Given the description of an element on the screen output the (x, y) to click on. 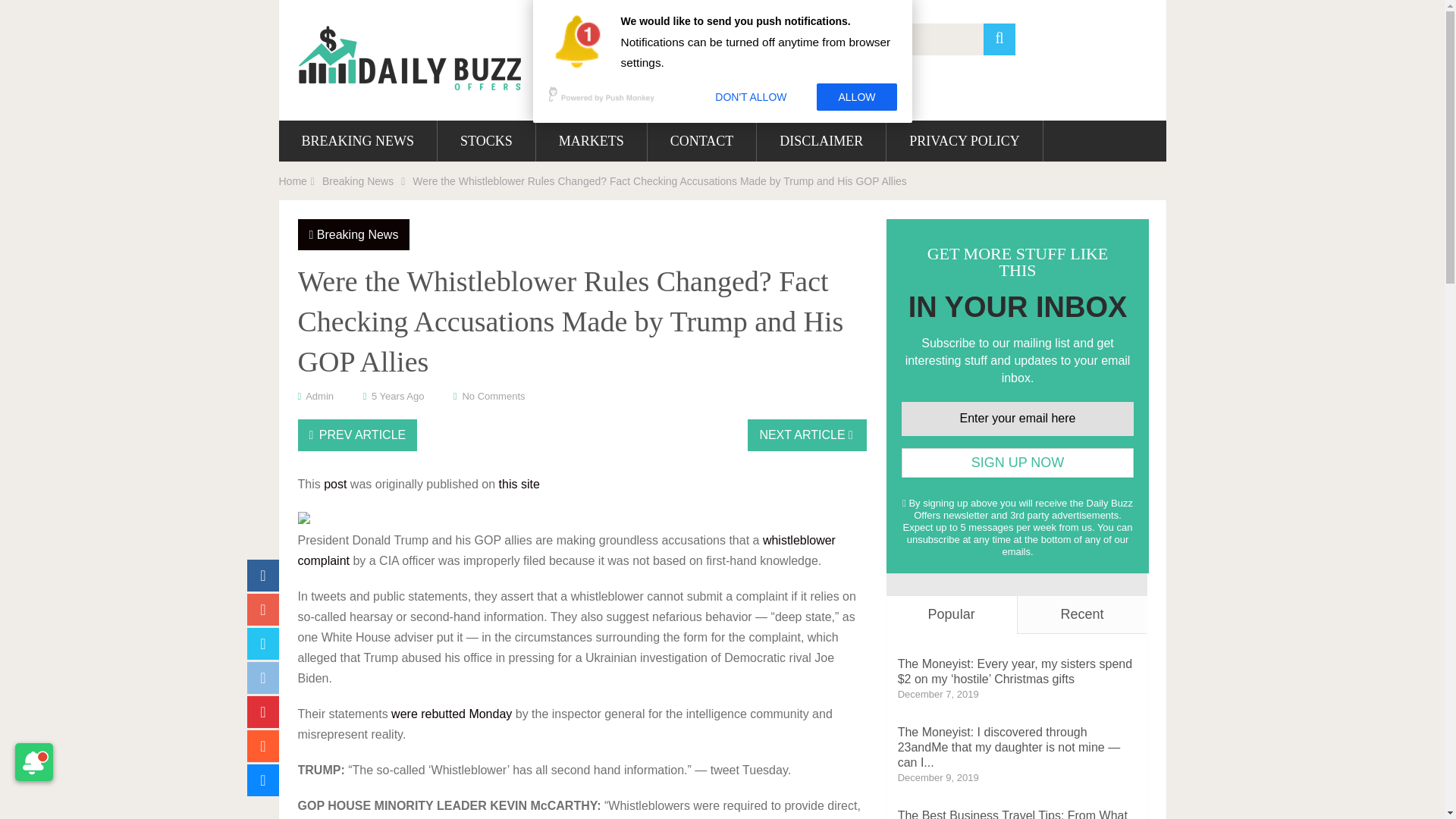
Breaking News (357, 234)
DISCLAIMER (821, 140)
were rebutted Monday (451, 713)
Home (293, 181)
whistleblower complaint (565, 550)
Sign Up Now (1017, 462)
NEXT ARTICLE (807, 435)
post (334, 483)
Breaking News (357, 181)
BREAKING NEWS (358, 140)
